Given the description of an element on the screen output the (x, y) to click on. 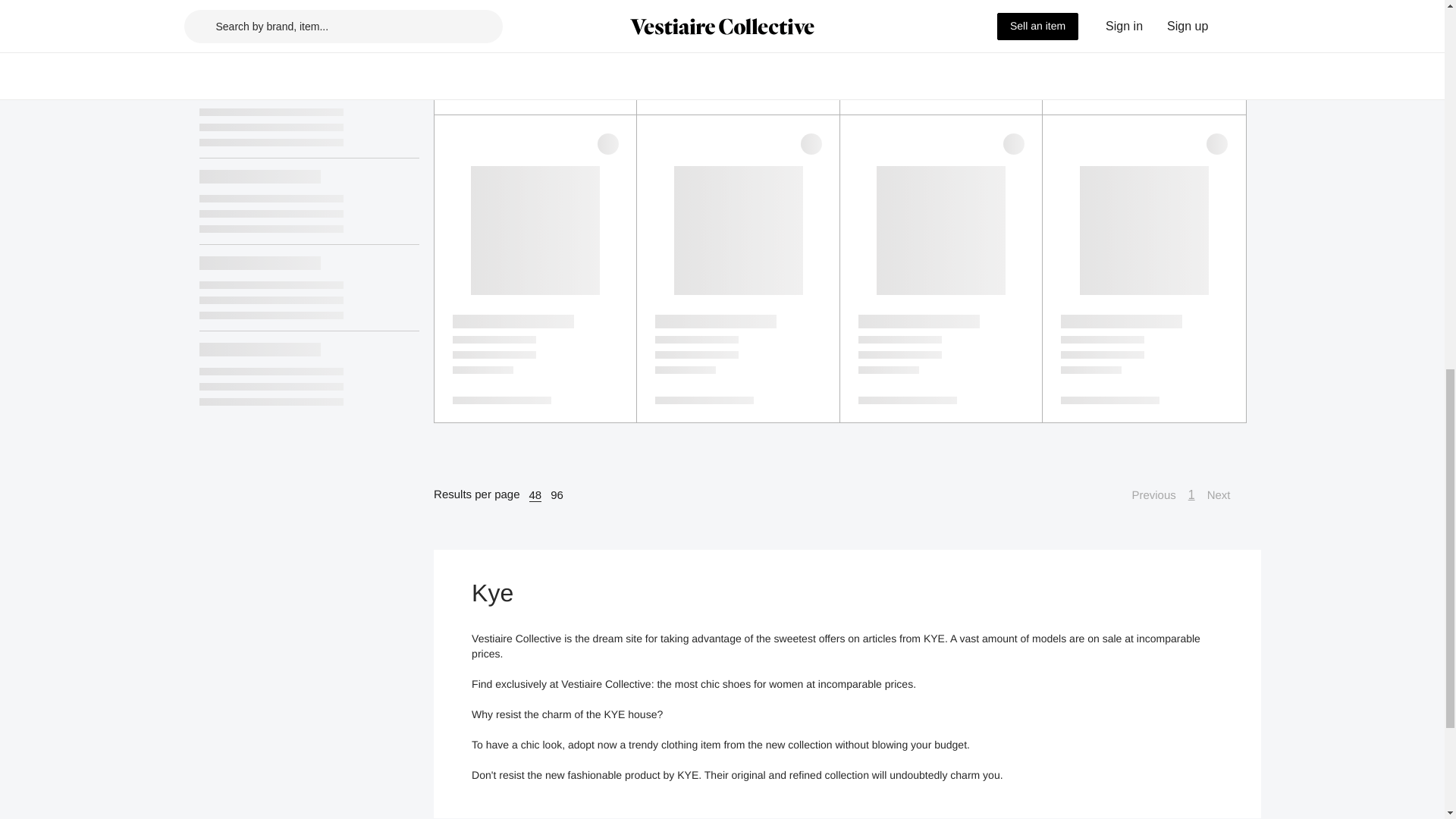
96 (556, 495)
Previous (1145, 495)
Next (1226, 495)
48 (535, 495)
